Given the description of an element on the screen output the (x, y) to click on. 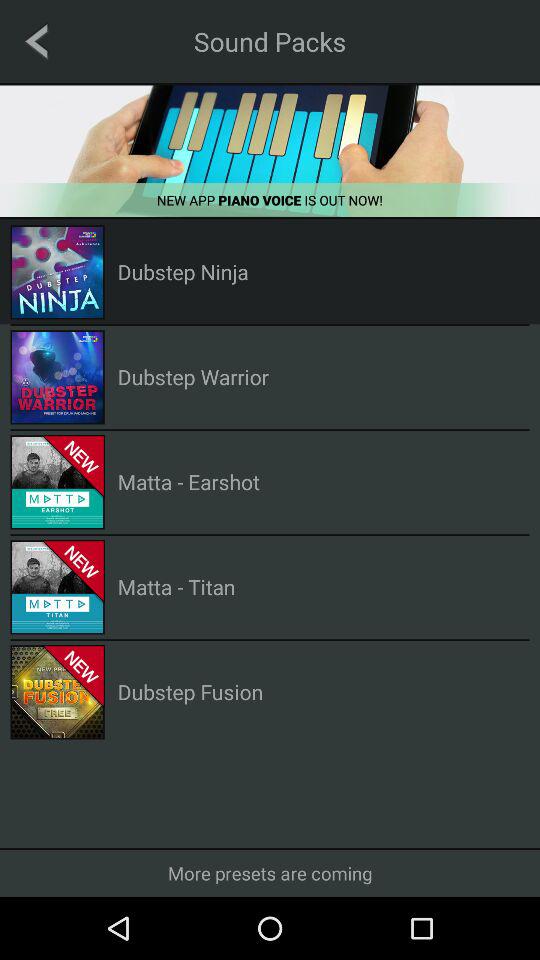
click the dubstep ninja (182, 271)
